Given the description of an element on the screen output the (x, y) to click on. 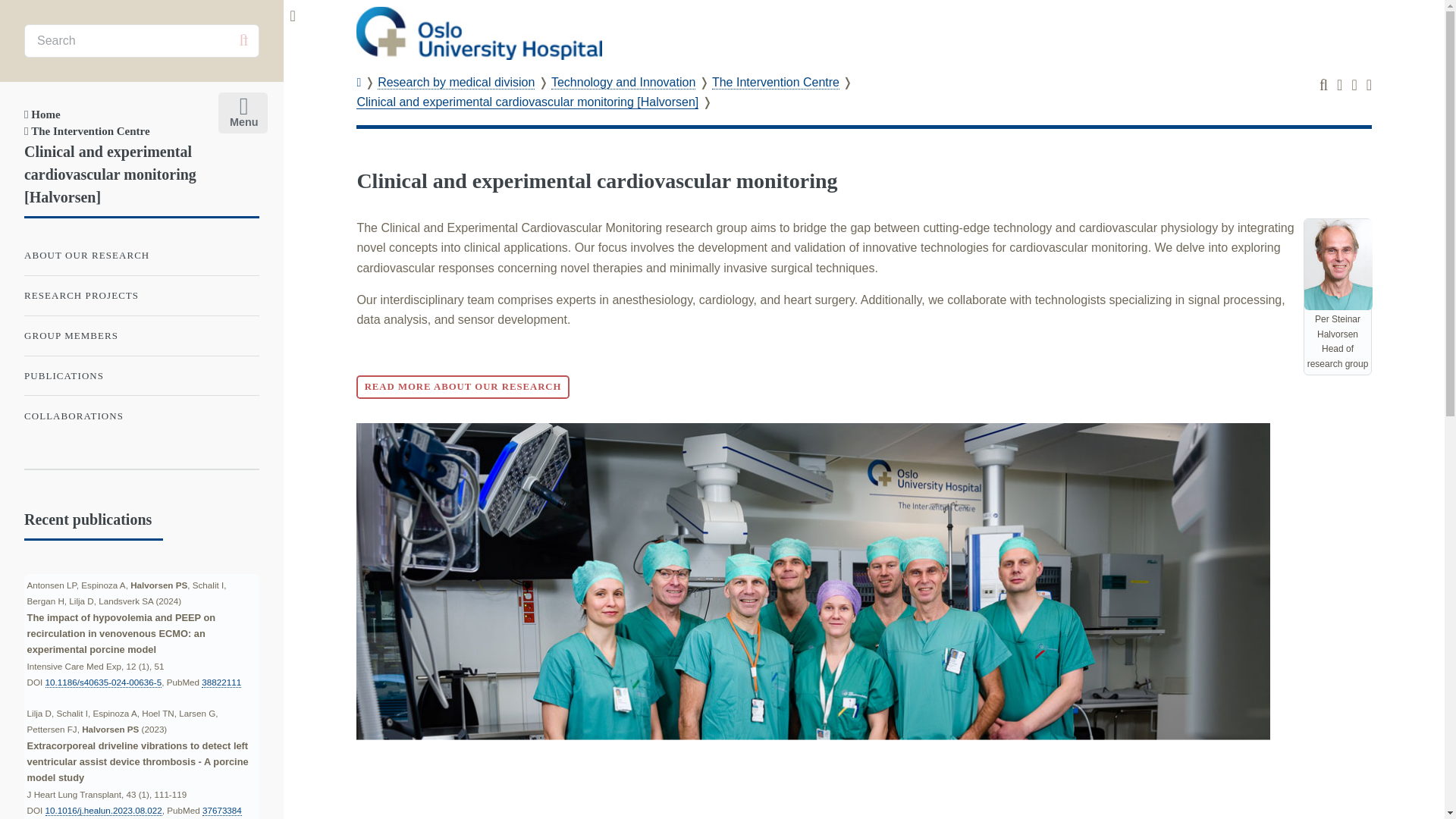
COLLABORATIONS (141, 416)
Clinical and experimental cardiovascular monitoring (596, 180)
37673384 (221, 810)
Home (42, 114)
The Intervention Centre (775, 82)
PUBLICATIONS (141, 375)
The Intervention Centre (86, 131)
38822111 (221, 682)
READ MORE ABOUT OUR RESEARCH (462, 386)
GROUP MEMBERS (141, 335)
ABOUT OUR RESEARCH (141, 255)
Research by medical division (455, 82)
Technology and Innovation (623, 82)
OUH - Clinical and experimental cardiovascular monitoring (479, 33)
Menu (240, 108)
